Given the description of an element on the screen output the (x, y) to click on. 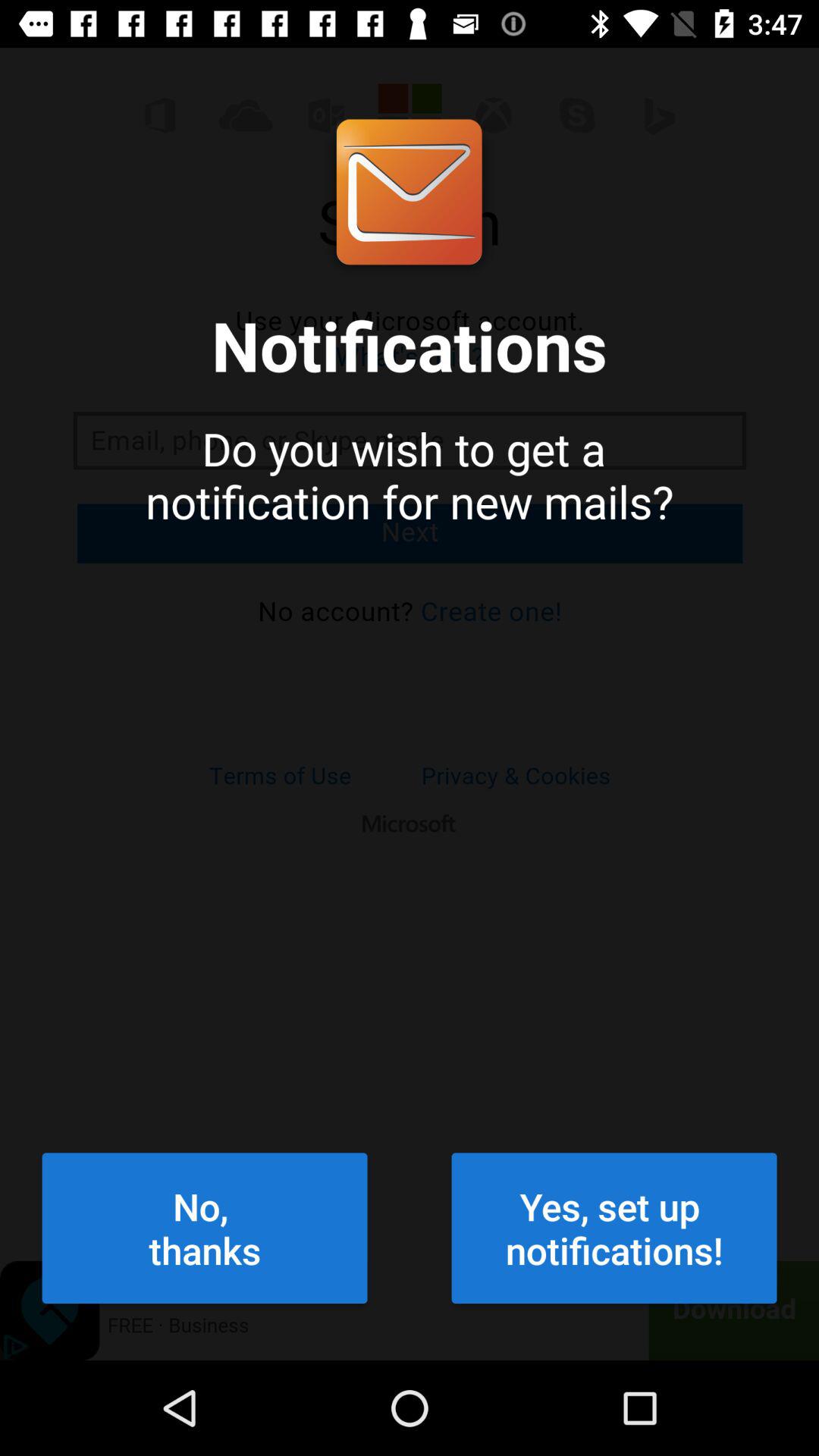
jump until the yes set up (613, 1227)
